Given the description of an element on the screen output the (x, y) to click on. 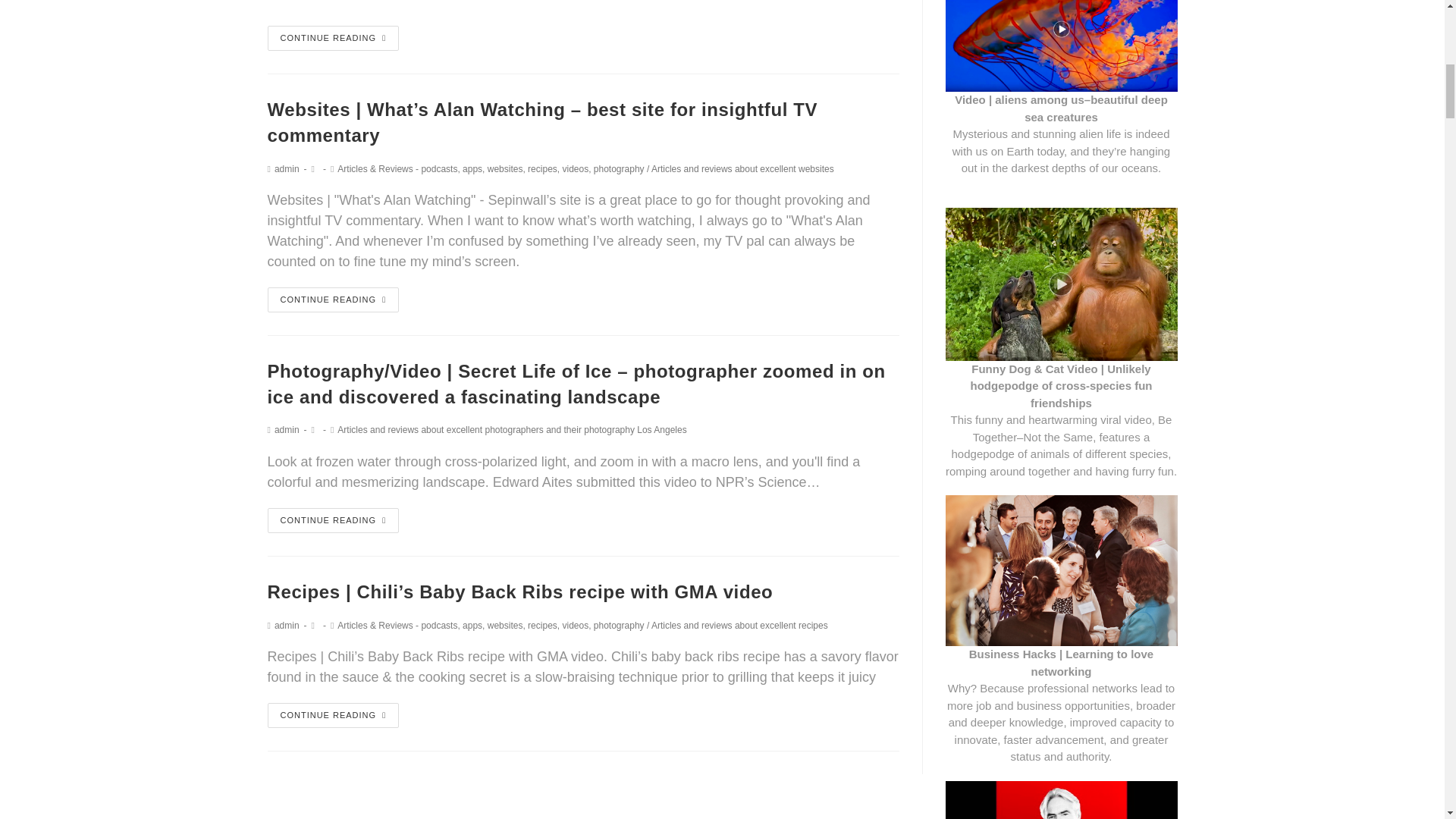
Posts by admin (287, 168)
Continue Reading (332, 37)
Continue Reading (332, 299)
Continue Reading (332, 715)
Posts by admin (287, 429)
Posts by admin (287, 624)
Continue Reading (332, 520)
